Given the description of an element on the screen output the (x, y) to click on. 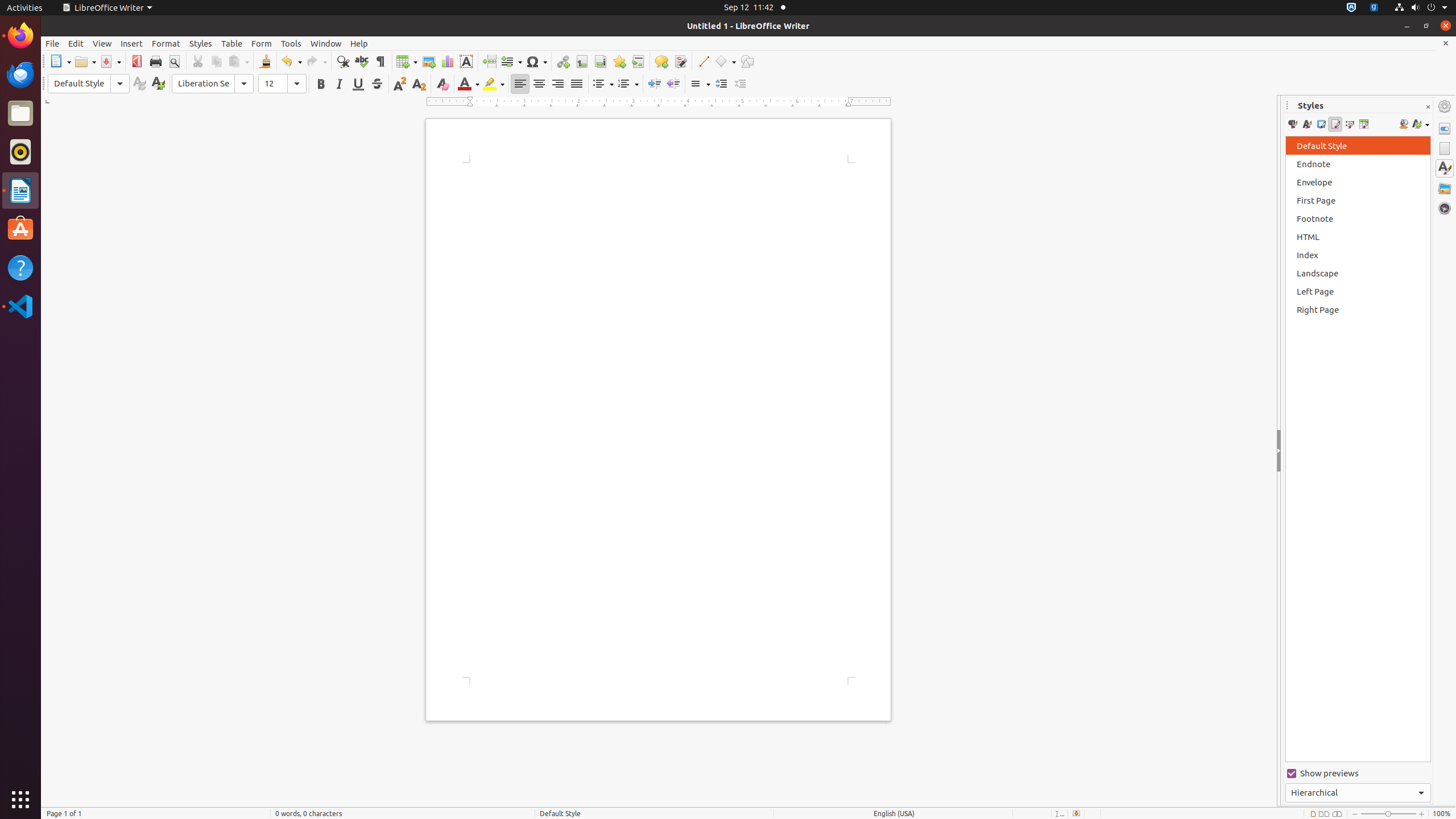
Increase Element type: push-button (721, 83)
Footnote Element type: push-button (581, 61)
Redo Element type: push-button (315, 61)
Styles Element type: menu (200, 43)
Update Element type: push-button (138, 83)
